Given the description of an element on the screen output the (x, y) to click on. 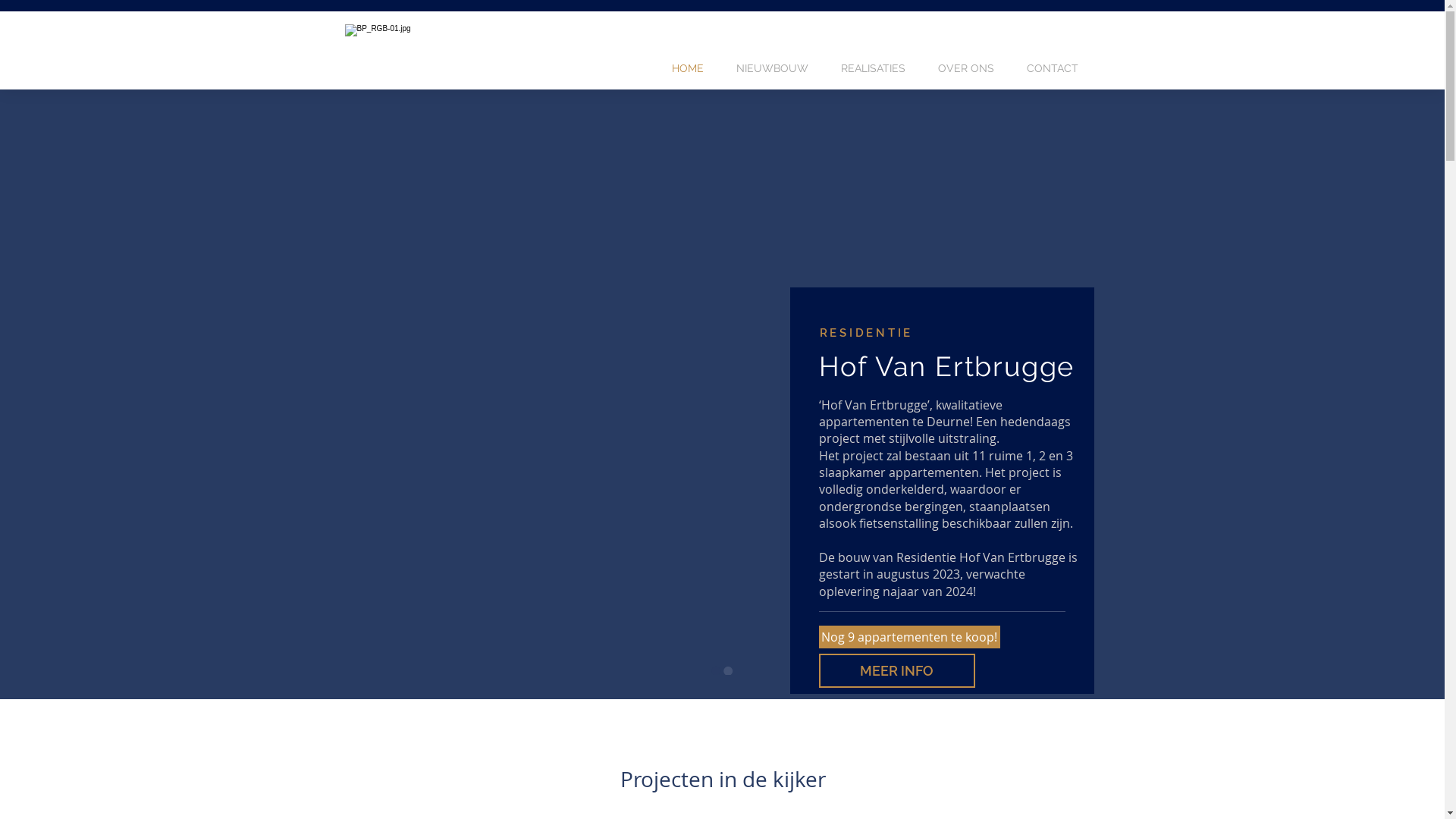
OVER ONS Element type: text (966, 67)
REALISATIES Element type: text (873, 67)
HOME Element type: text (687, 67)
Nog 9 appartementen te koop! Element type: text (909, 636)
MEER INFO Element type: text (897, 670)
CONTACT Element type: text (1051, 67)
NIEUWBOUW Element type: text (772, 67)
